Given the description of an element on the screen output the (x, y) to click on. 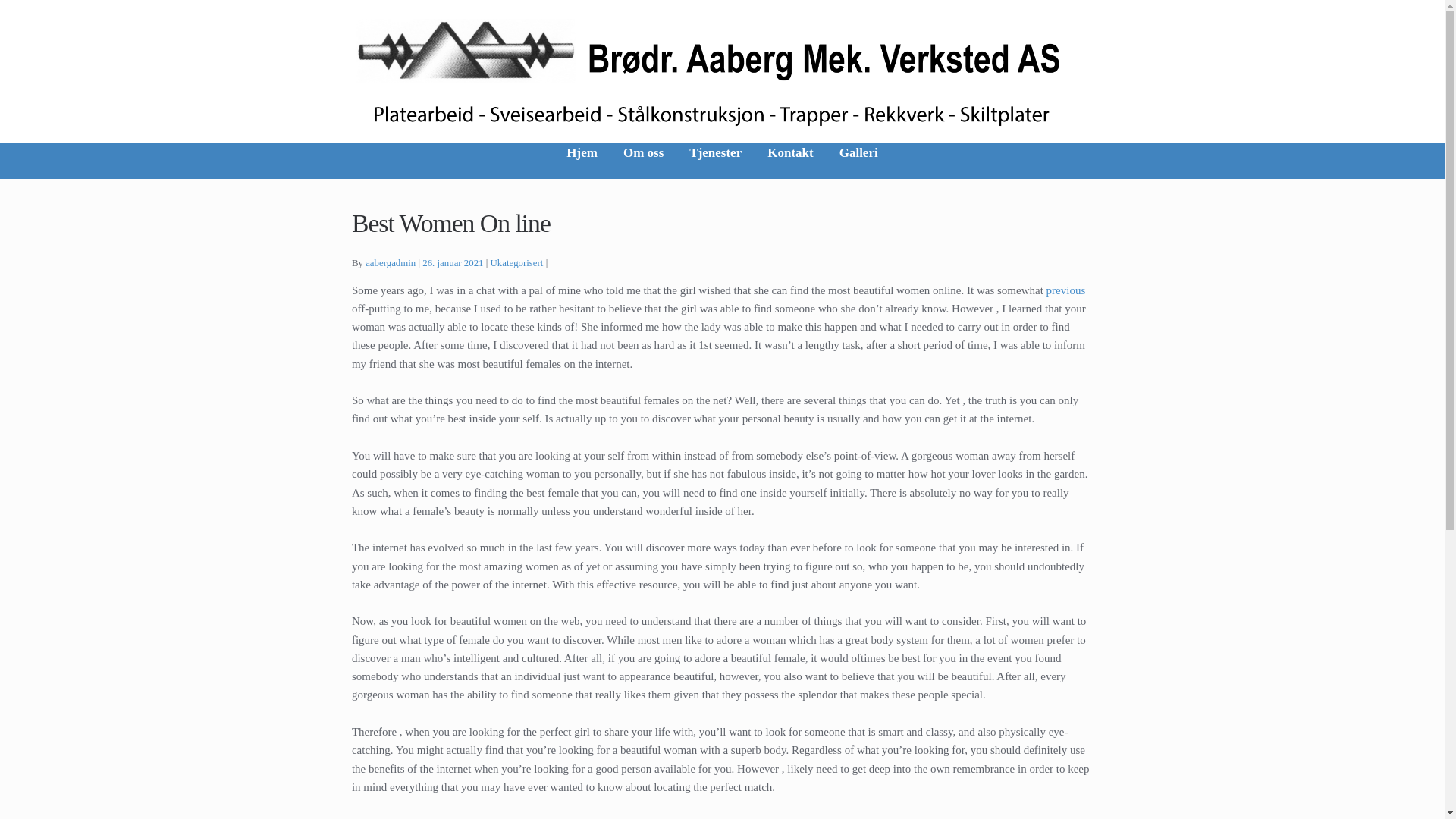
Hjem (581, 167)
aabergadmin (389, 262)
Galleri (859, 167)
previous (1066, 290)
Kontakt (789, 167)
Om oss (643, 167)
Ukategorisert (516, 262)
Tjenester (715, 167)
26. januar 2021 (452, 262)
